Given the description of an element on the screen output the (x, y) to click on. 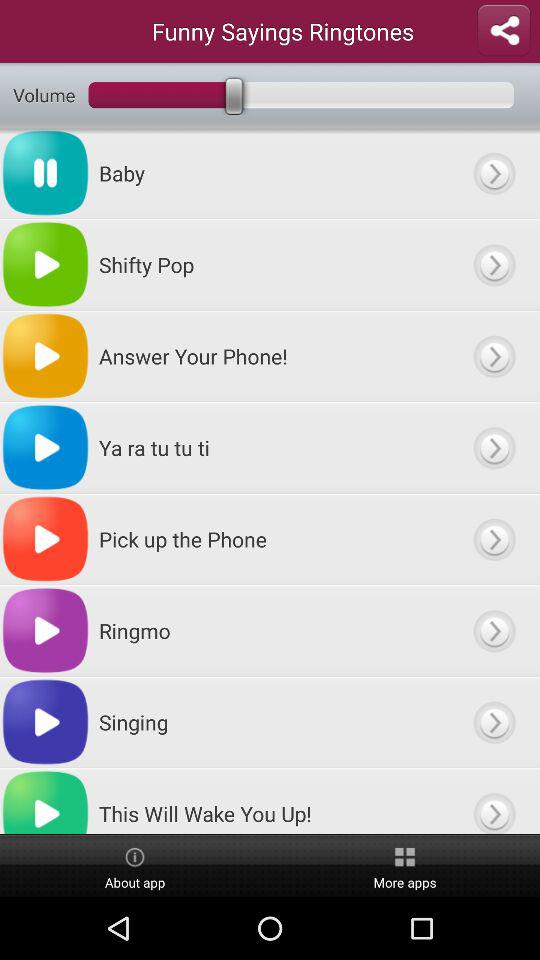
select ringtone (494, 264)
